Given the description of an element on the screen output the (x, y) to click on. 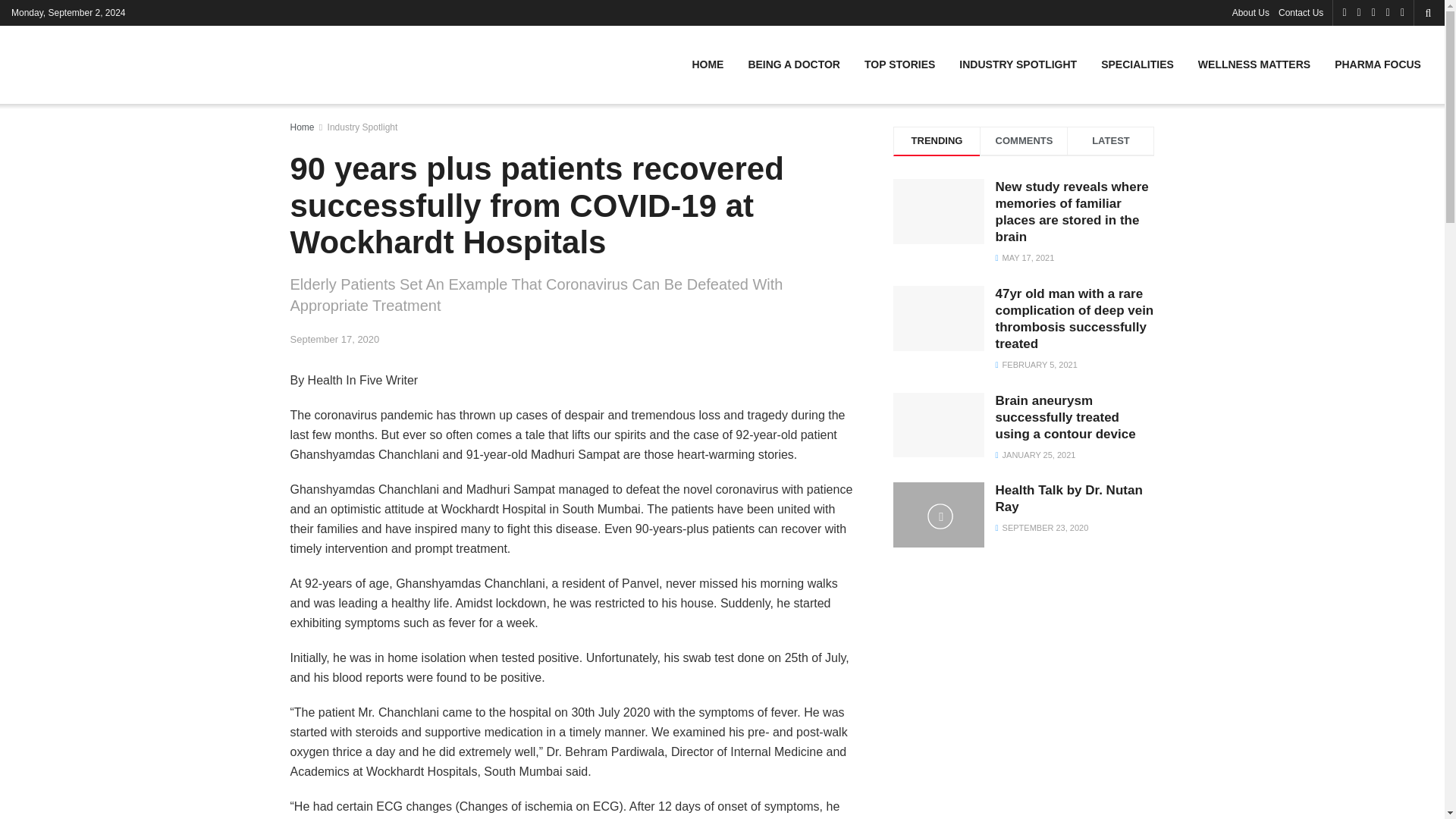
BEING A DOCTOR (793, 64)
Contact Us (1300, 12)
About Us (1250, 12)
TOP STORIES (899, 64)
INDUSTRY SPOTLIGHT (1018, 64)
SPECIALITIES (1137, 64)
